Given the description of an element on the screen output the (x, y) to click on. 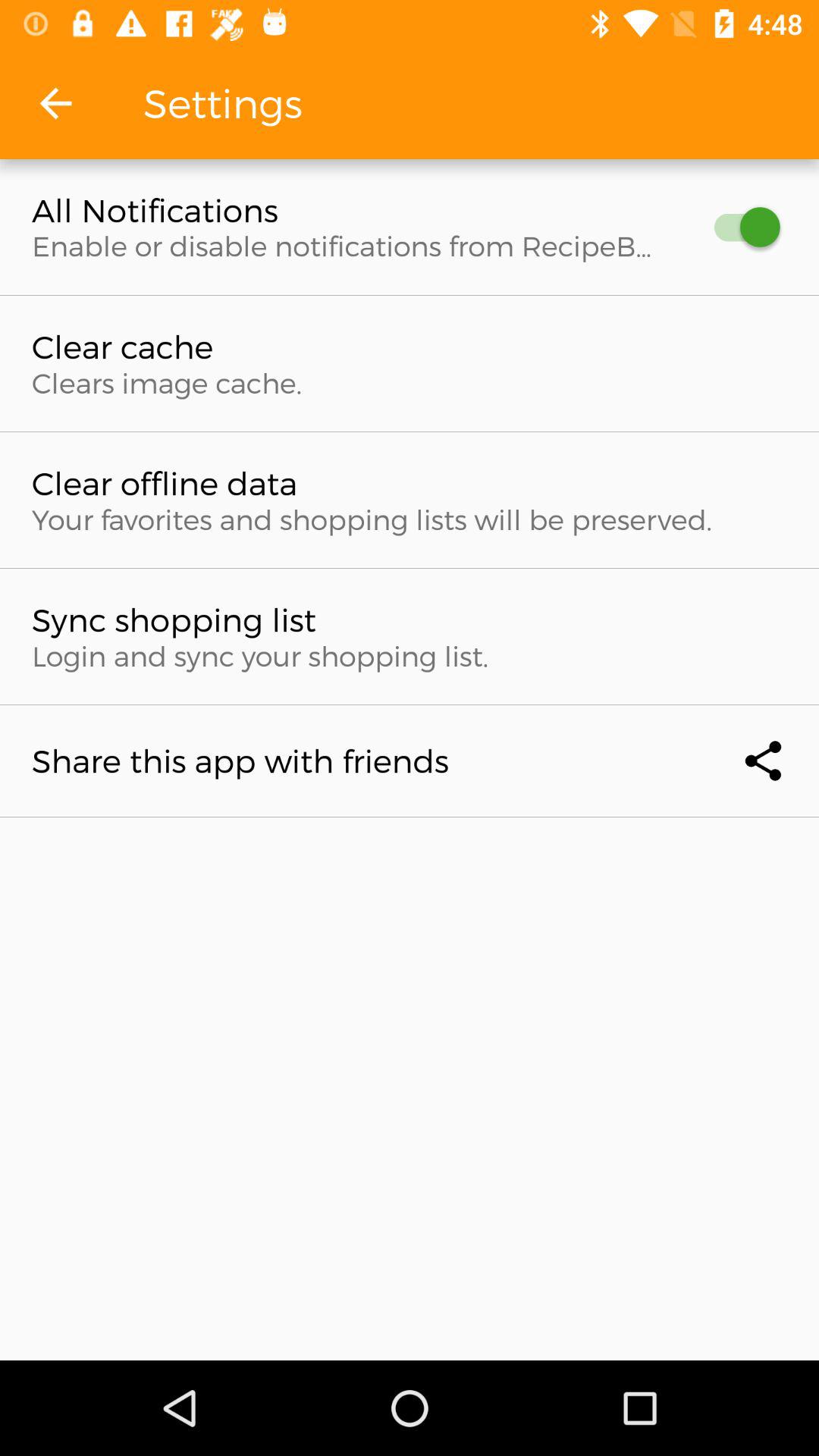
turn off item above the all notifications (55, 103)
